Given the description of an element on the screen output the (x, y) to click on. 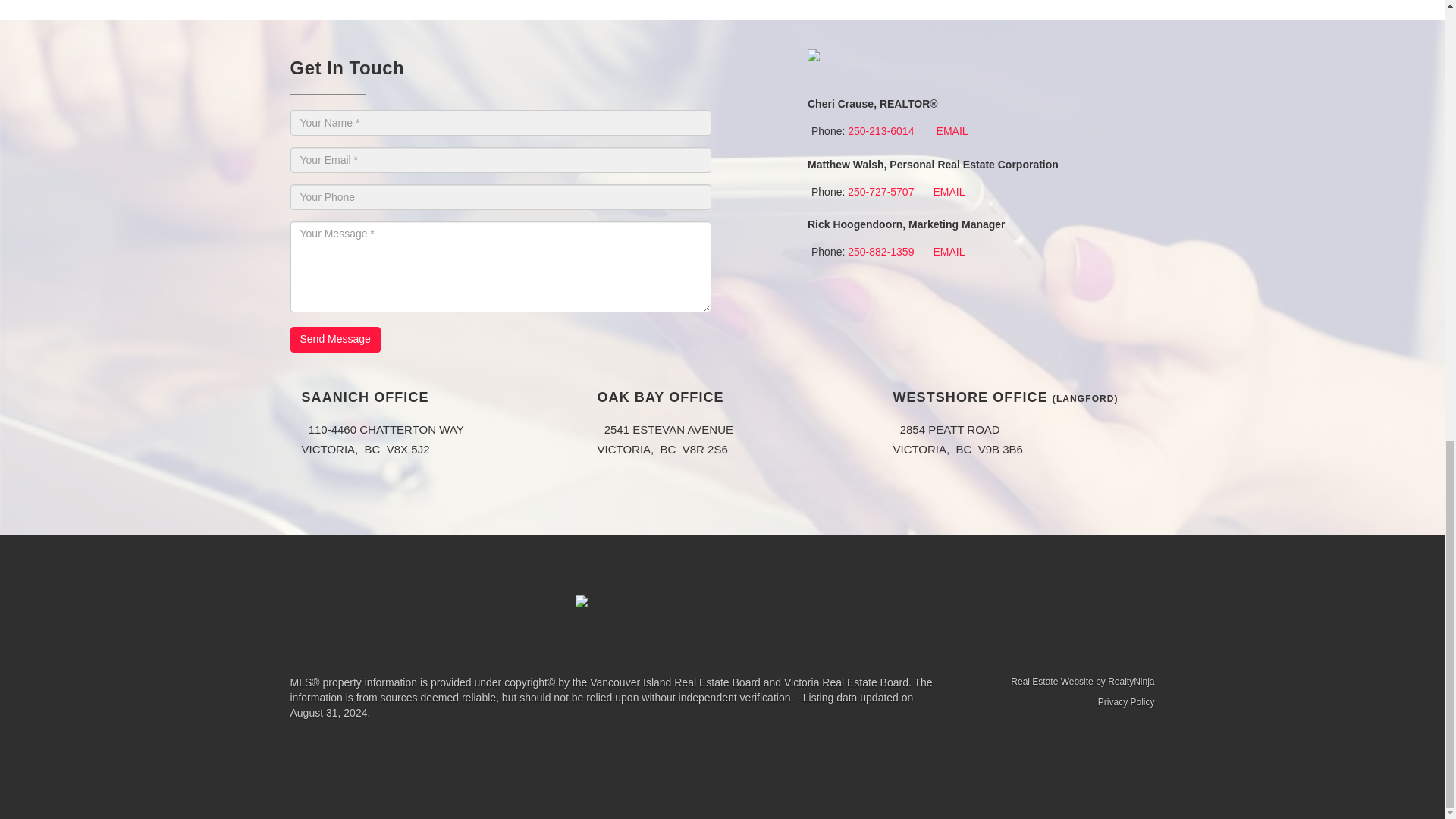
250-727-5707 (880, 191)
EMAIL (948, 251)
250-882-1359 (880, 251)
Send Message (334, 339)
EMAIL (952, 131)
EMAIL (948, 191)
250-213-6014 (880, 131)
